Given the description of an element on the screen output the (x, y) to click on. 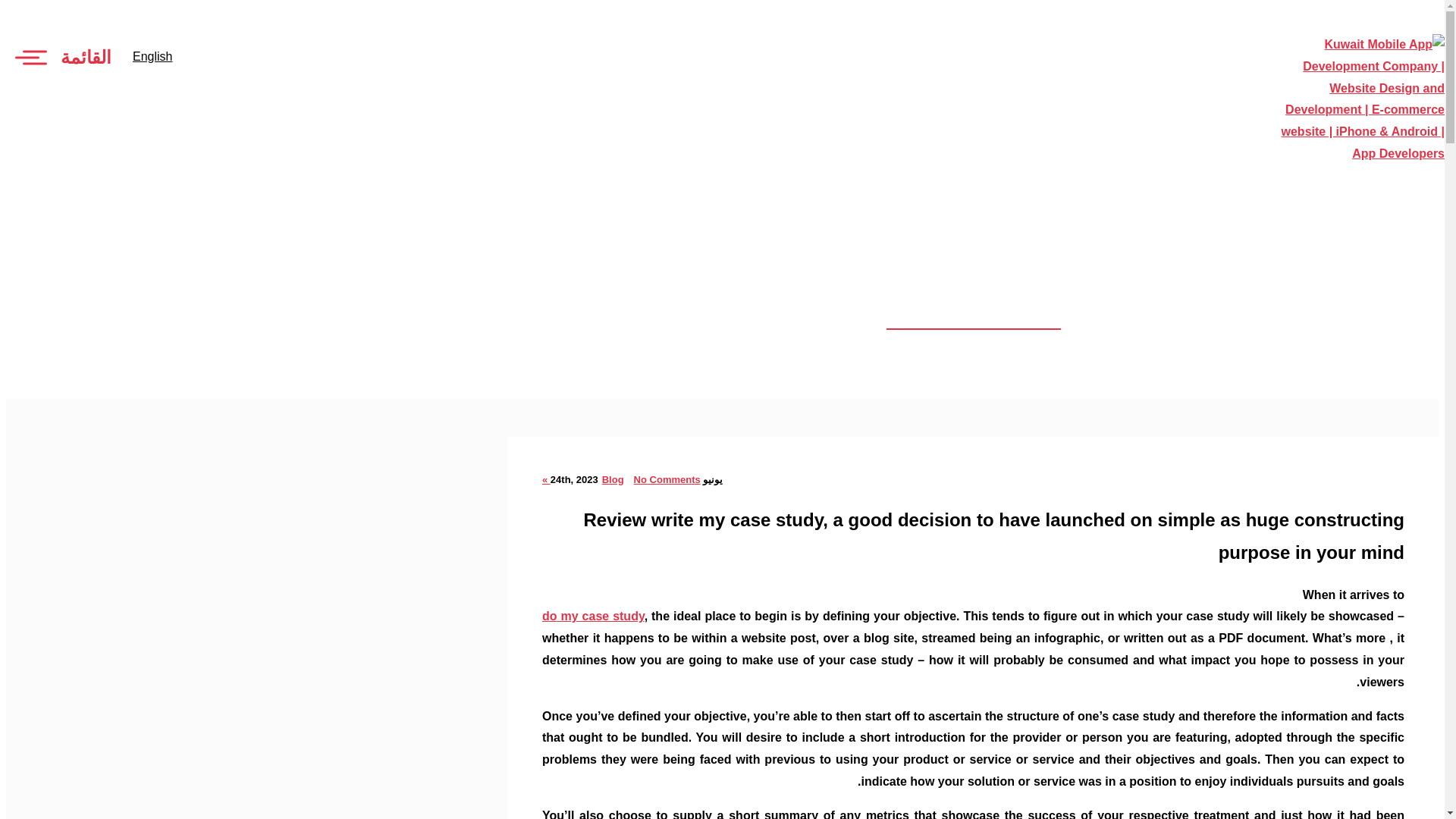
English (151, 56)
Blog (613, 479)
do my case study (593, 615)
